Given the description of an element on the screen output the (x, y) to click on. 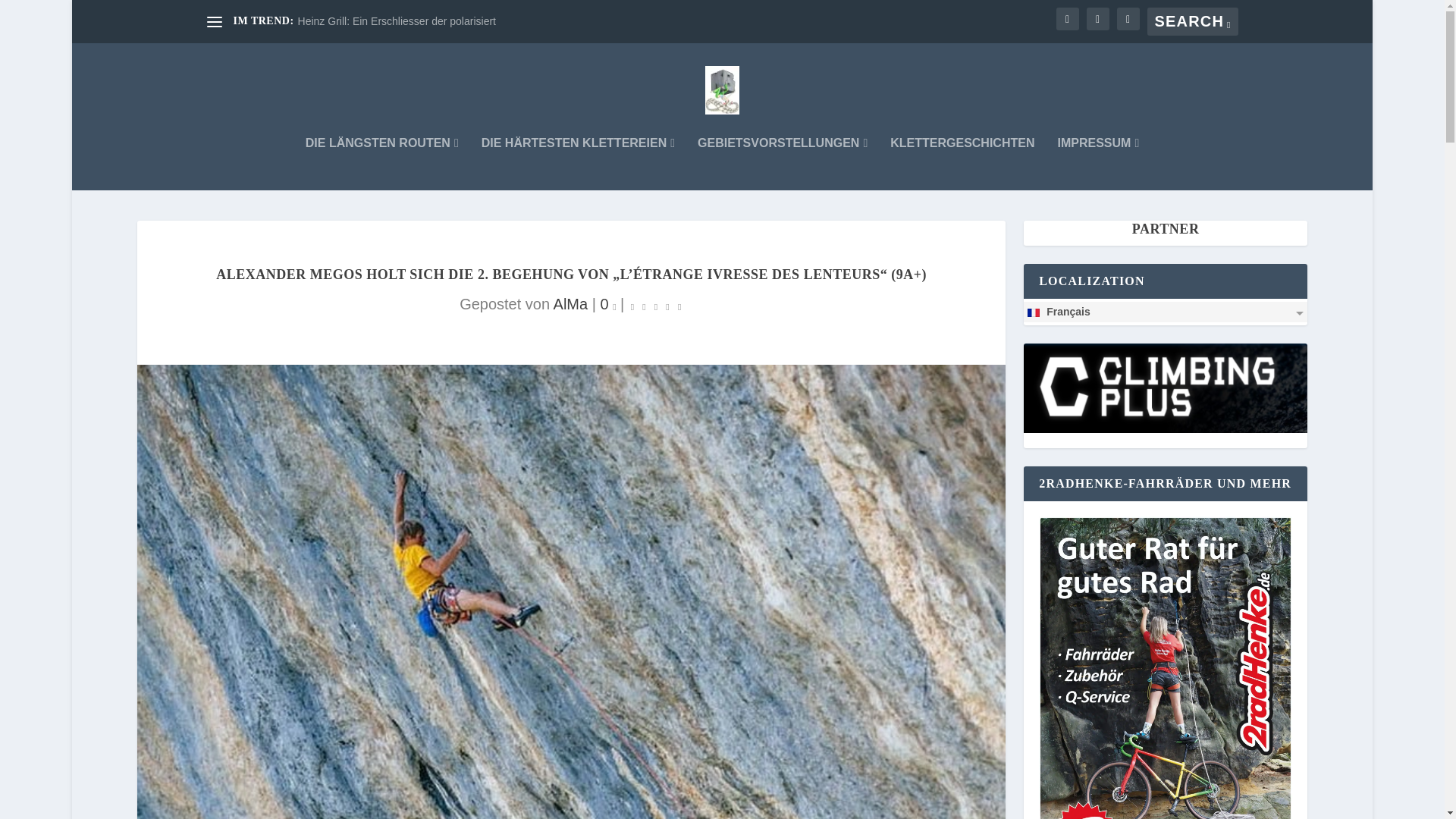
IMPRESSUM (1097, 163)
0 (607, 303)
Search for: (1192, 21)
Bewertung: 0.00 (655, 305)
GEBIETSVORSTELLUNGEN (782, 163)
AlMa (570, 303)
Heinz Grill: Ein Erschliesser der polarisiert (397, 21)
KLETTERGESCHICHTEN (961, 163)
